Given the description of an element on the screen output the (x, y) to click on. 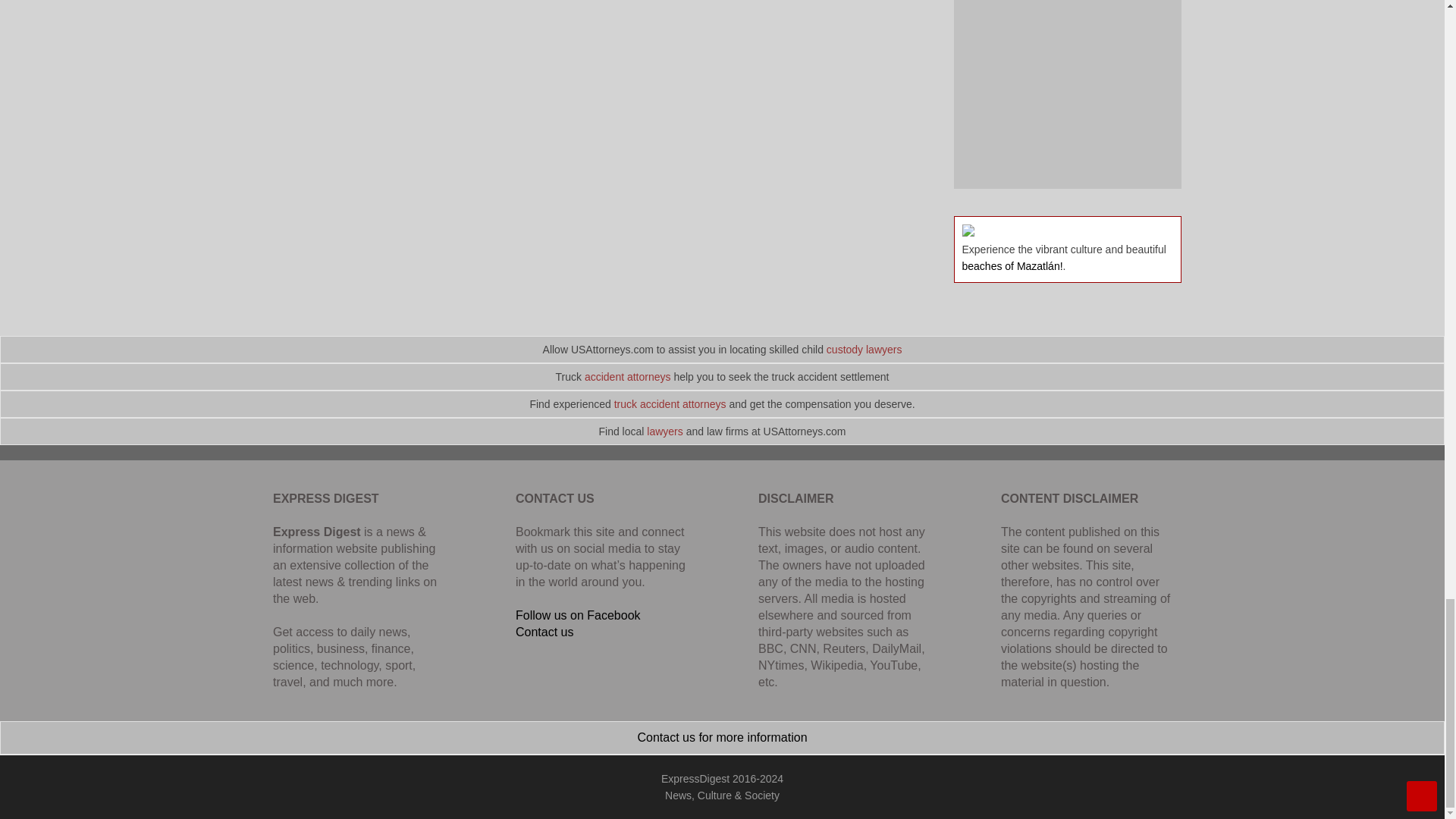
accident attorneys (628, 377)
custody lawyers (864, 349)
